Given the description of an element on the screen output the (x, y) to click on. 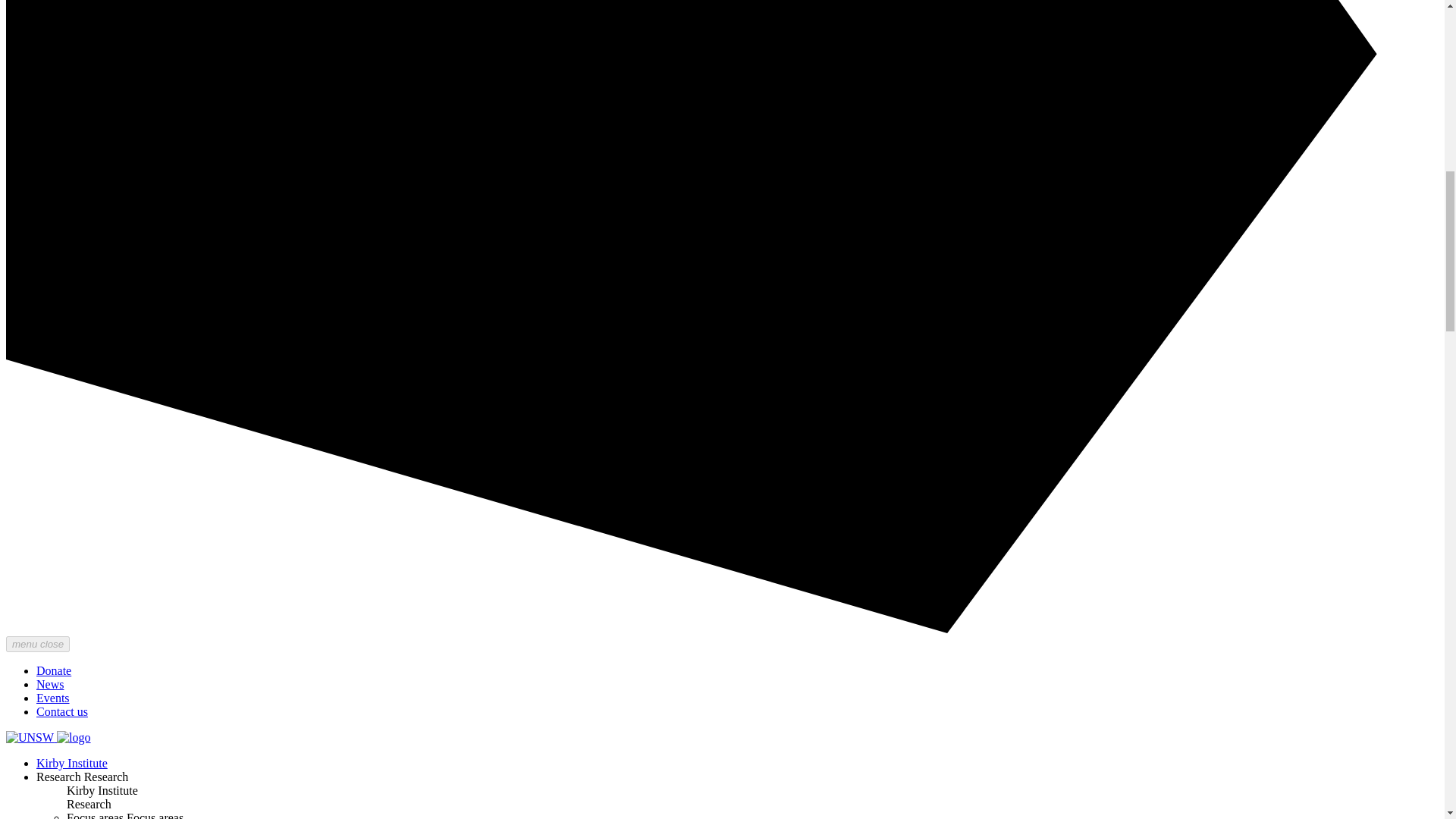
menu close (37, 643)
Donate (53, 670)
News (50, 684)
Kirby Institute (71, 762)
Contact us (61, 711)
Events (52, 697)
UNSW (30, 737)
Home (73, 737)
